Given the description of an element on the screen output the (x, y) to click on. 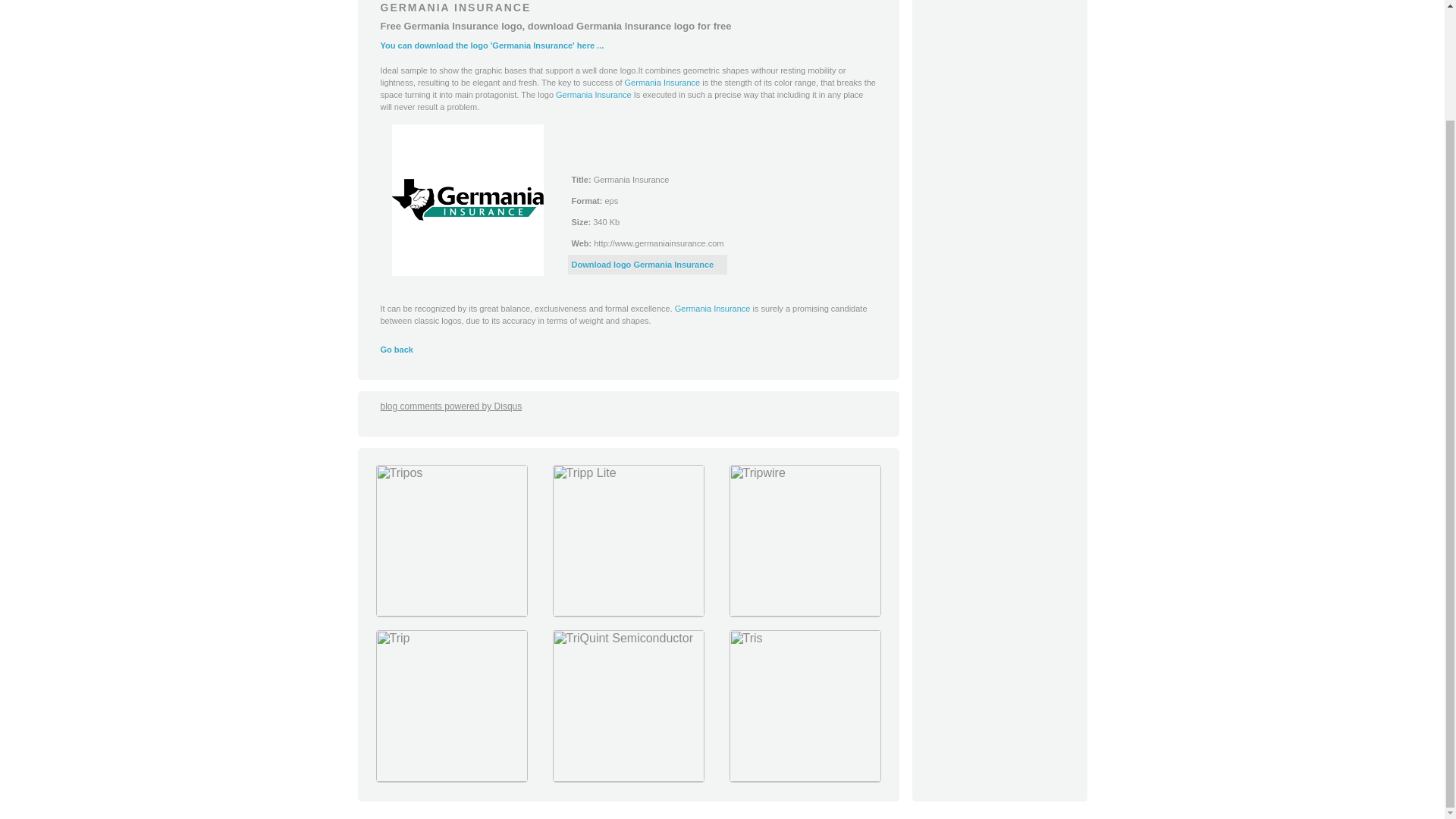
Germania Insurance (713, 307)
Download Logo Tripp Lite (627, 612)
You can download the logo 'Germania Insurance' here ... (492, 44)
Download Logo Trip (450, 778)
Download Logo Tripwire (804, 612)
Germania Insurance (662, 81)
Download Logo Tris (804, 778)
Germania Insurance (593, 94)
Download Logo Tripos (450, 612)
Download Logo TriQuint Semiconductor (627, 778)
